Given the description of an element on the screen output the (x, y) to click on. 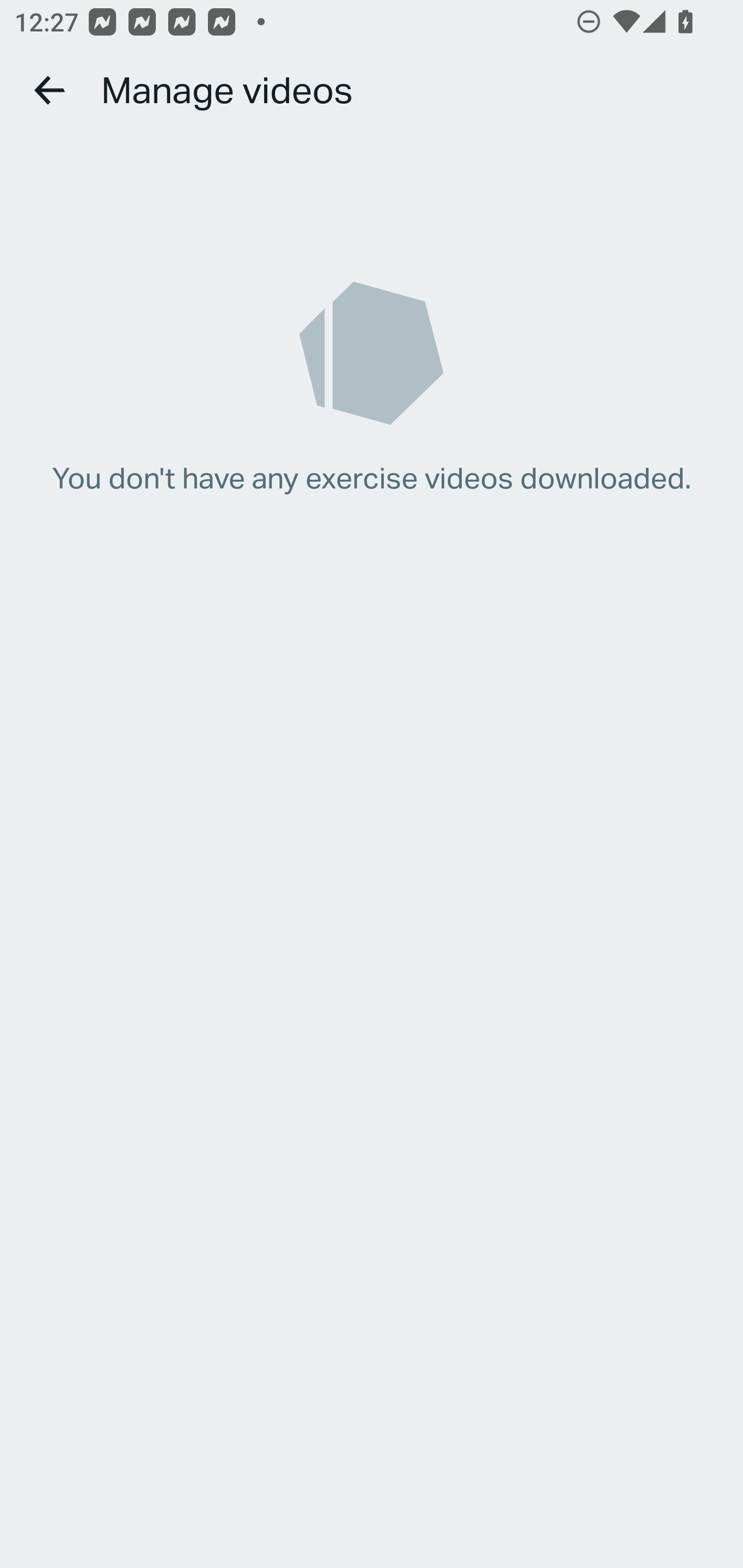
Go back (50, 90)
